Given the description of an element on the screen output the (x, y) to click on. 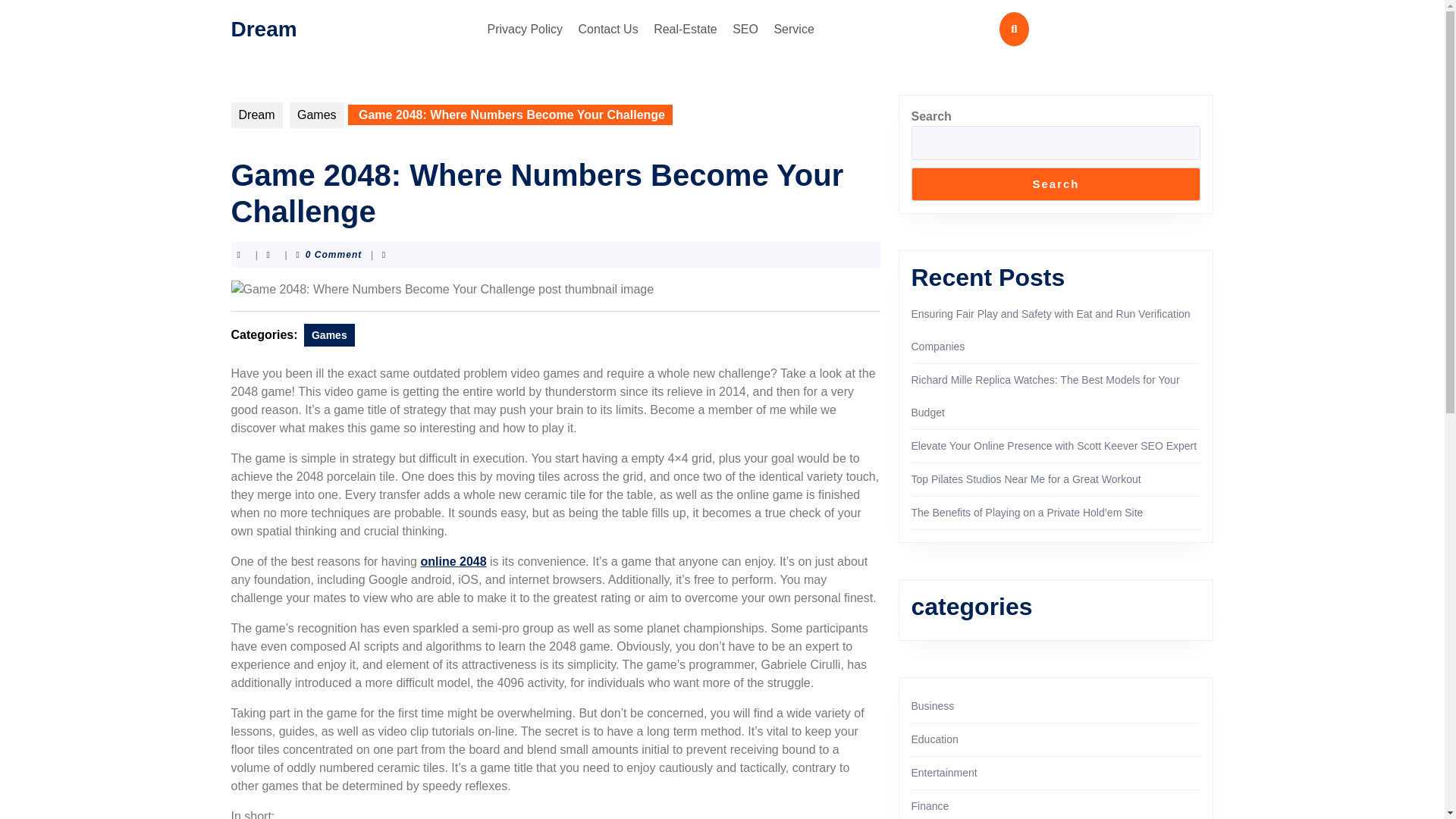
Search (1056, 183)
Top Pilates Studios Near Me for a Great Workout (1026, 479)
Dream (263, 28)
Games (329, 334)
online 2048 (453, 561)
Elevate Your Online Presence with Scott Keever SEO Expert (1053, 445)
Real-Estate (685, 28)
Privacy Policy (524, 28)
